Given the description of an element on the screen output the (x, y) to click on. 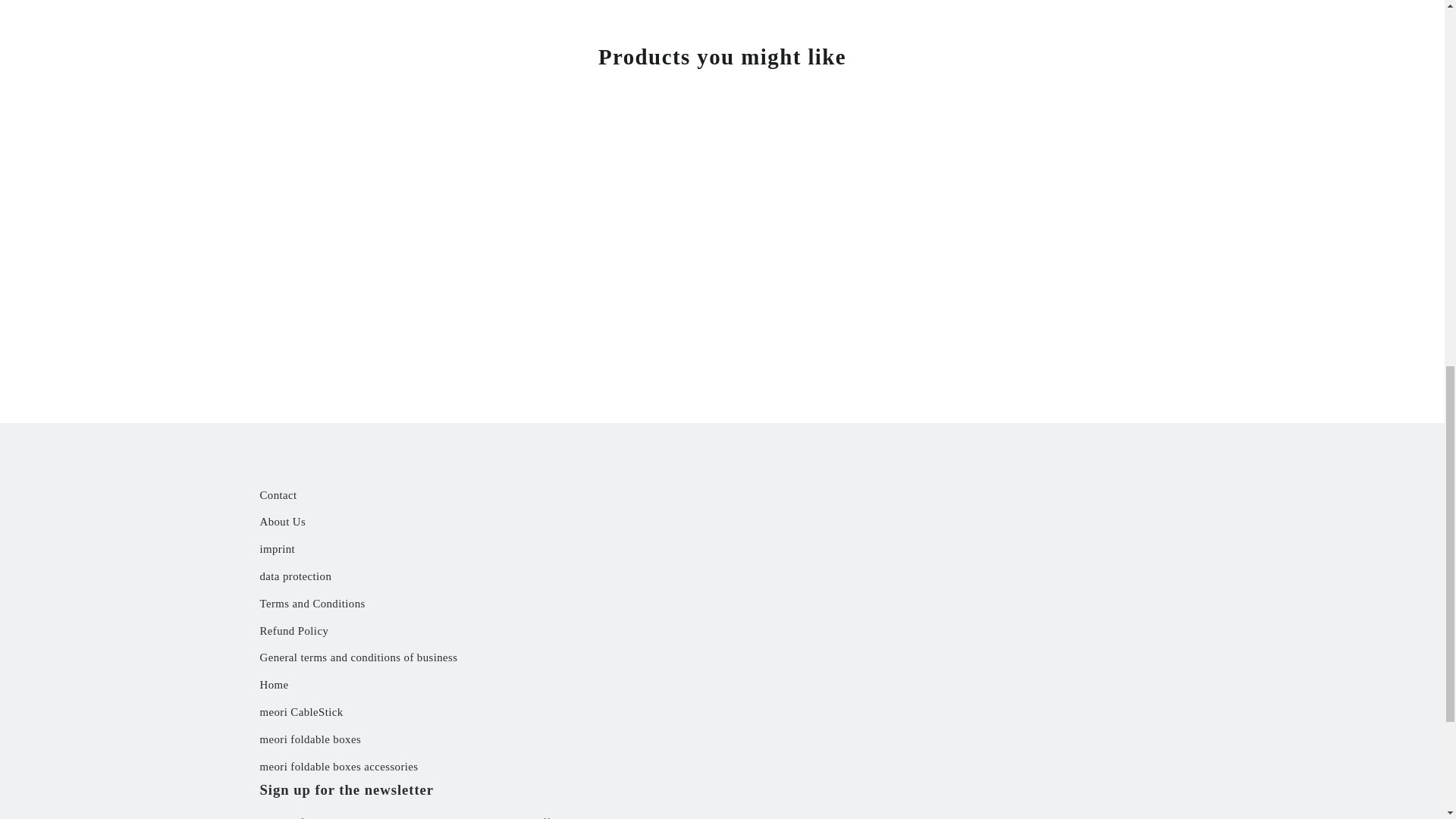
Contact (722, 495)
About Us (722, 522)
